Given the description of an element on the screen output the (x, y) to click on. 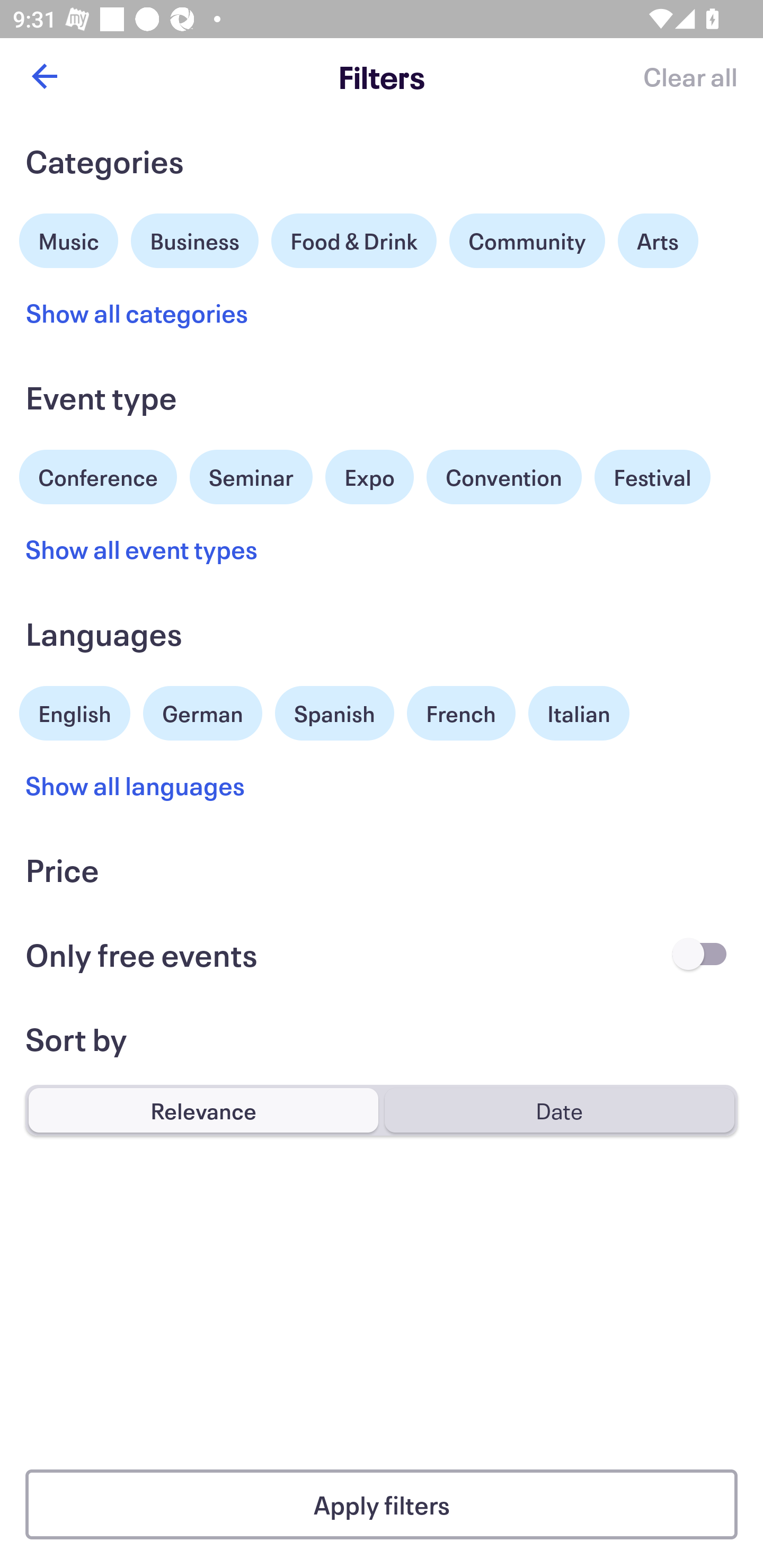
Back button (44, 75)
Clear all (690, 75)
Music (68, 238)
Business (194, 238)
Food & Drink (353, 240)
Community (527, 240)
Arts (658, 240)
Show all categories (136, 312)
Conference (98, 475)
Seminar (250, 477)
Expo (369, 477)
Convention (503, 477)
Festival (652, 477)
Show all event types (141, 548)
English (74, 710)
German (202, 710)
Spanish (334, 713)
French (460, 713)
Italian (578, 713)
Show all languages (135, 784)
Relevance (203, 1109)
Date (559, 1109)
Apply filters (381, 1504)
